Given the description of an element on the screen output the (x, y) to click on. 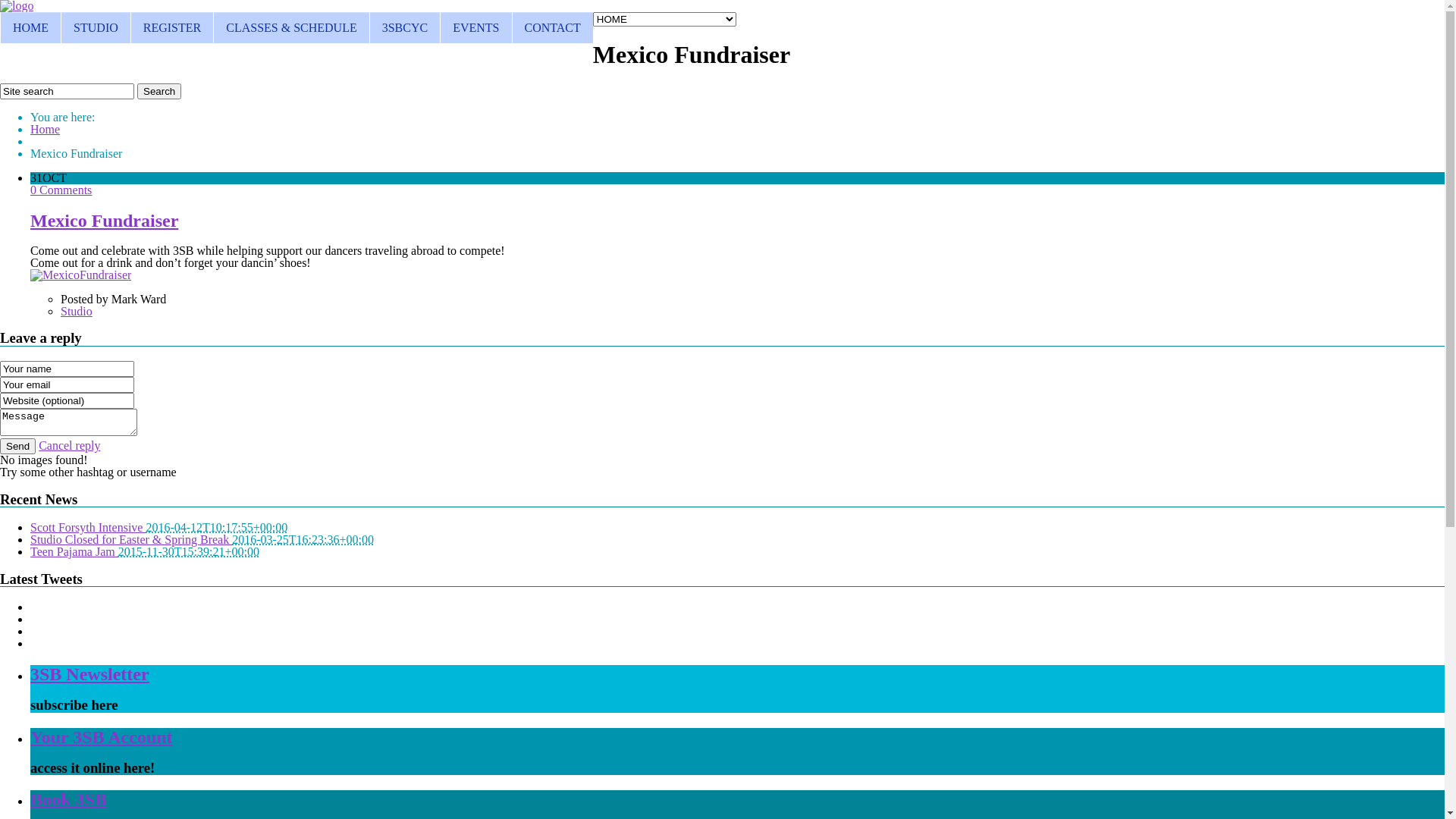
3SB Newsletter Element type: text (89, 674)
STUDIO Element type: text (95, 27)
Book 3SB Element type: text (68, 799)
Studio Closed for Easter & Spring Break Element type: text (131, 539)
EVENTS Element type: text (475, 27)
3SBCYC Element type: text (404, 27)
HOME Element type: text (30, 27)
CLASSES & SCHEDULE Element type: text (290, 27)
Teen Pajama Jam Element type: text (74, 551)
Studio Element type: text (76, 310)
Scott Forsyth Intensive Element type: text (87, 526)
Mexico Fundraiser Element type: text (104, 220)
CONTACT Element type: text (551, 27)
0 Comments Element type: text (60, 189)
Search Element type: text (159, 91)
Cancel reply Element type: text (69, 445)
Send Element type: text (17, 446)
Home Element type: text (44, 128)
REGISTER Element type: text (171, 27)
Your 3SB Account Element type: text (101, 736)
